Given the description of an element on the screen output the (x, y) to click on. 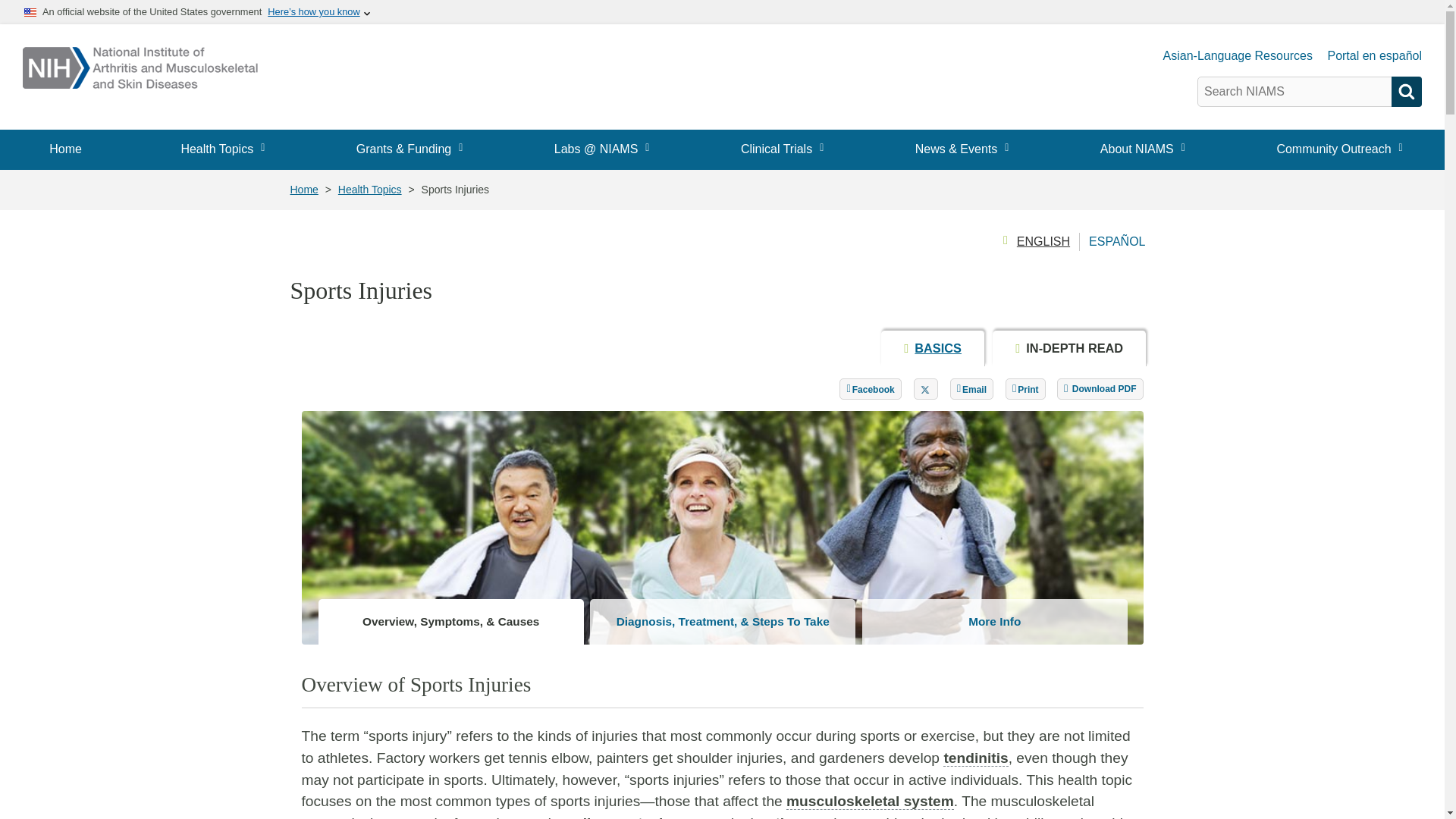
Asian-Language Resources (1238, 55)
Health Topics (218, 149)
Clinical Trials (778, 149)
Search (1406, 91)
Home (65, 149)
Search (1406, 91)
